Given the description of an element on the screen output the (x, y) to click on. 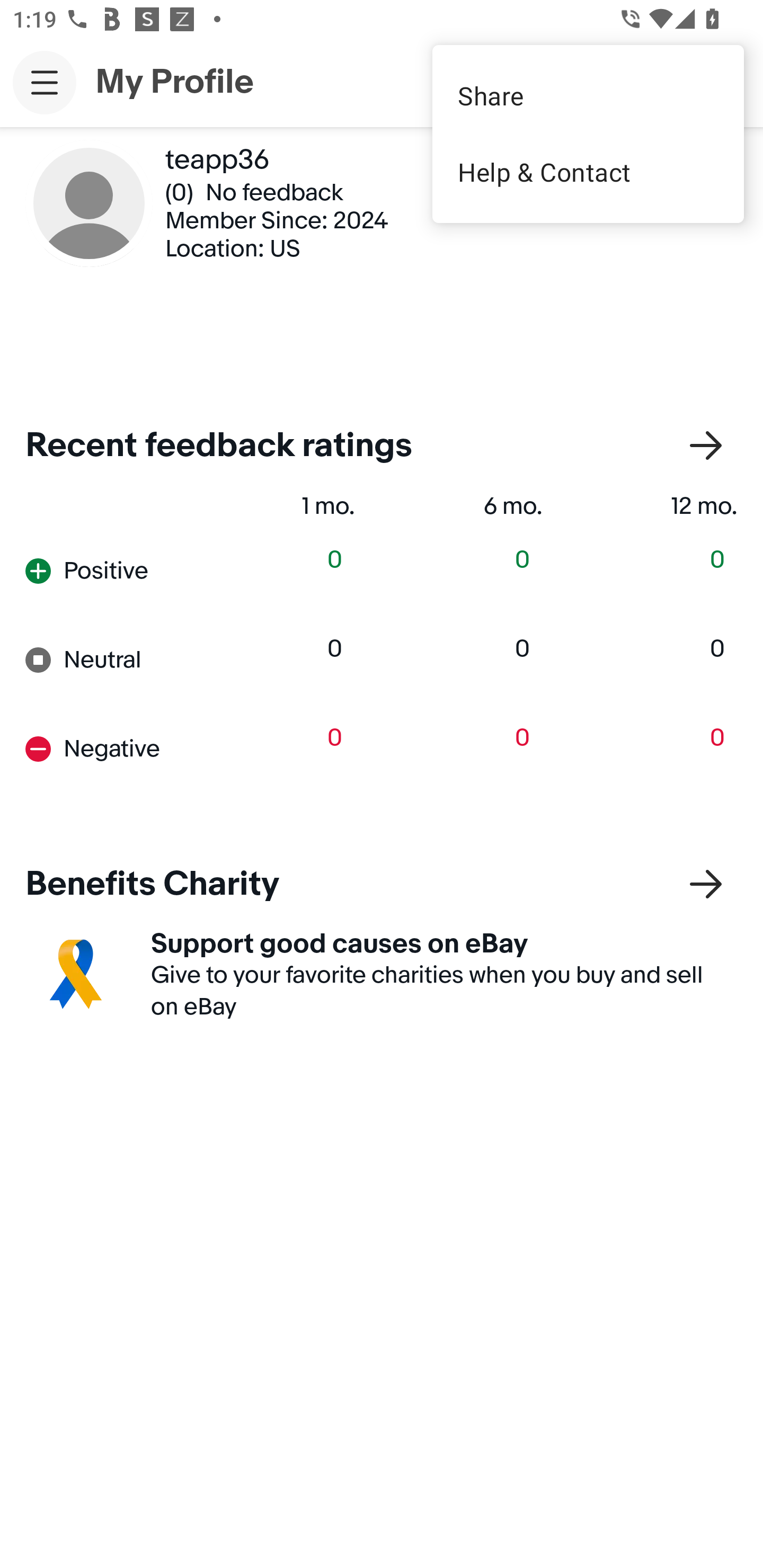
Share (587, 95)
Help & Contact (587, 171)
